Given the description of an element on the screen output the (x, y) to click on. 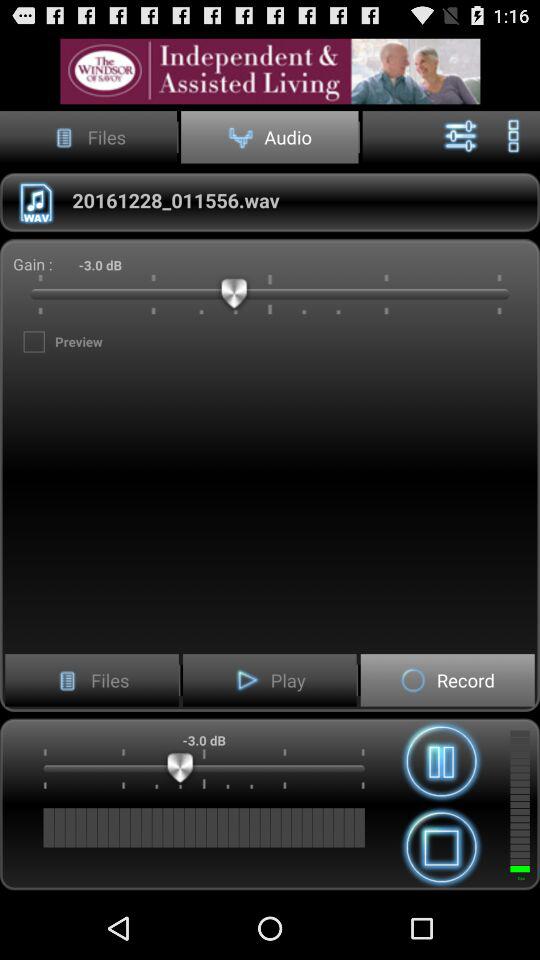
clicks the advertisement (270, 70)
